Given the description of an element on the screen output the (x, y) to click on. 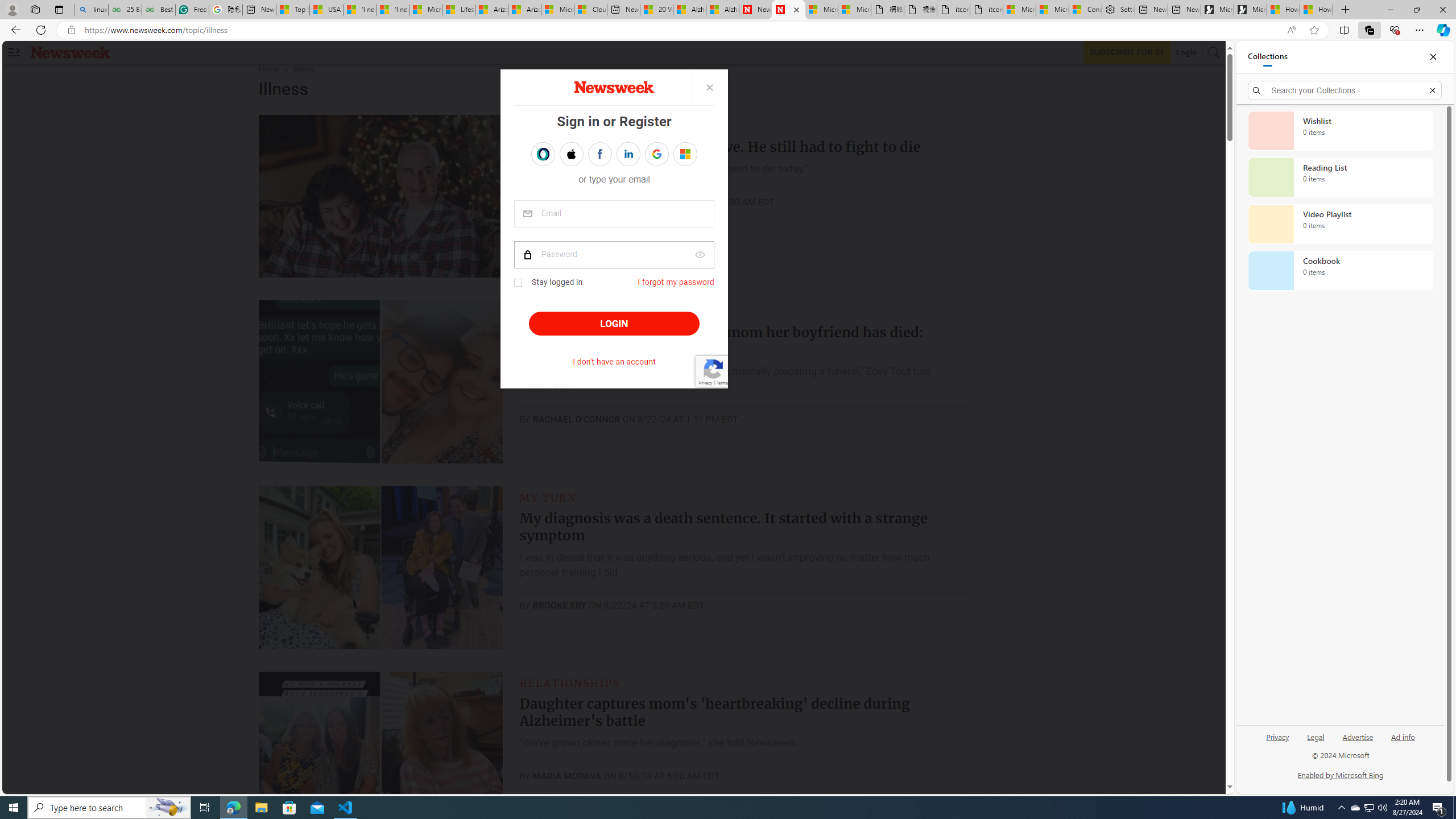
AutomationID: search-btn (1213, 51)
20 Ways to Boost Your Protein Intake at Every Meal (656, 9)
Newsweek logo (70, 51)
Eugene (677, 153)
RELATIONSHIPS (569, 682)
I forgot my password (675, 282)
linux basic - Search (91, 9)
